Given the description of an element on the screen output the (x, y) to click on. 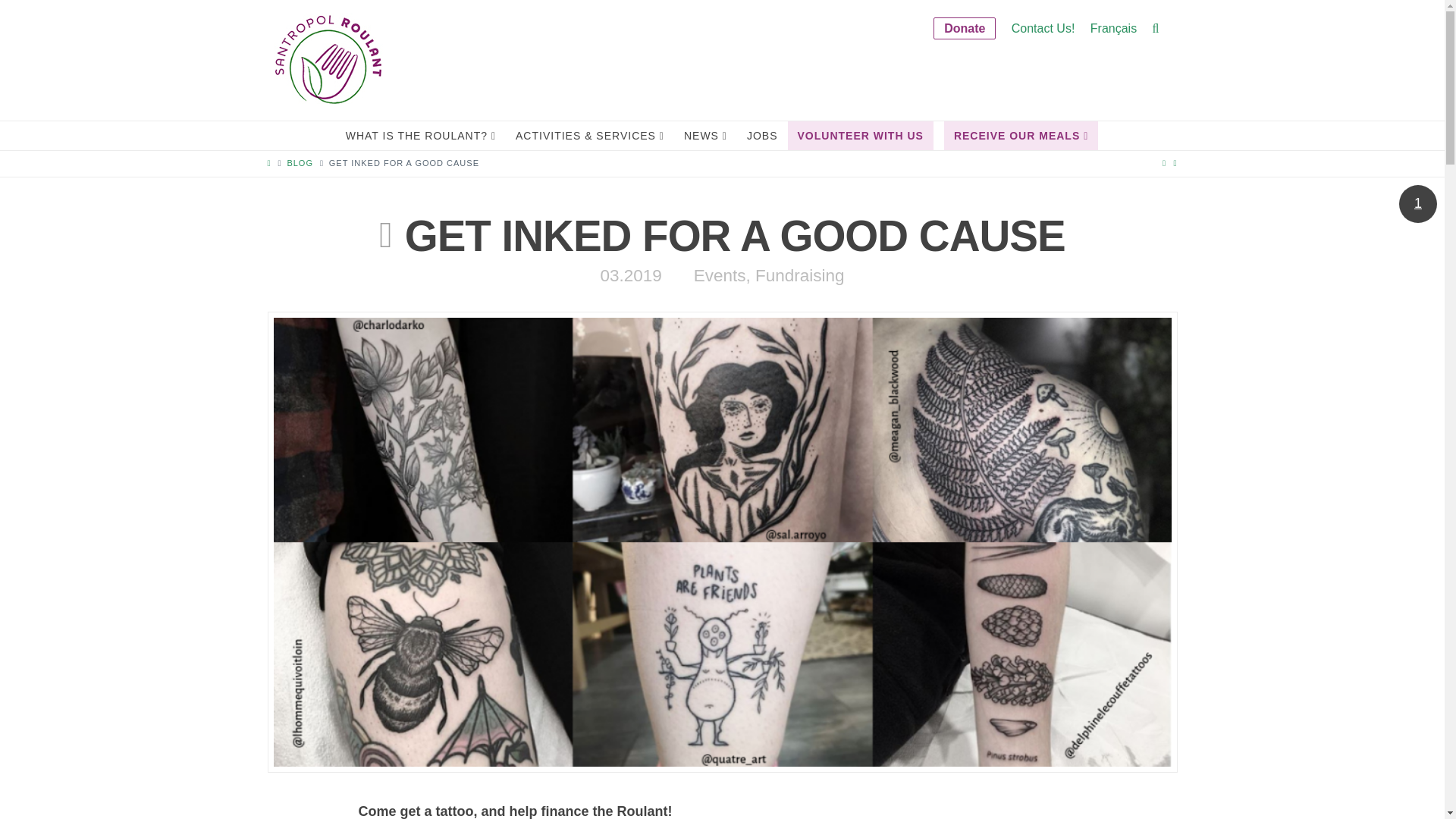
WHAT IS THE ROULANT? (420, 135)
Contact Us! (1043, 28)
VOLUNTEER WITH US (860, 135)
Donate (964, 28)
RECEIVE OUR MEALS (1020, 135)
NEWS (705, 135)
JOBS (761, 135)
